Given the description of an element on the screen output the (x, y) to click on. 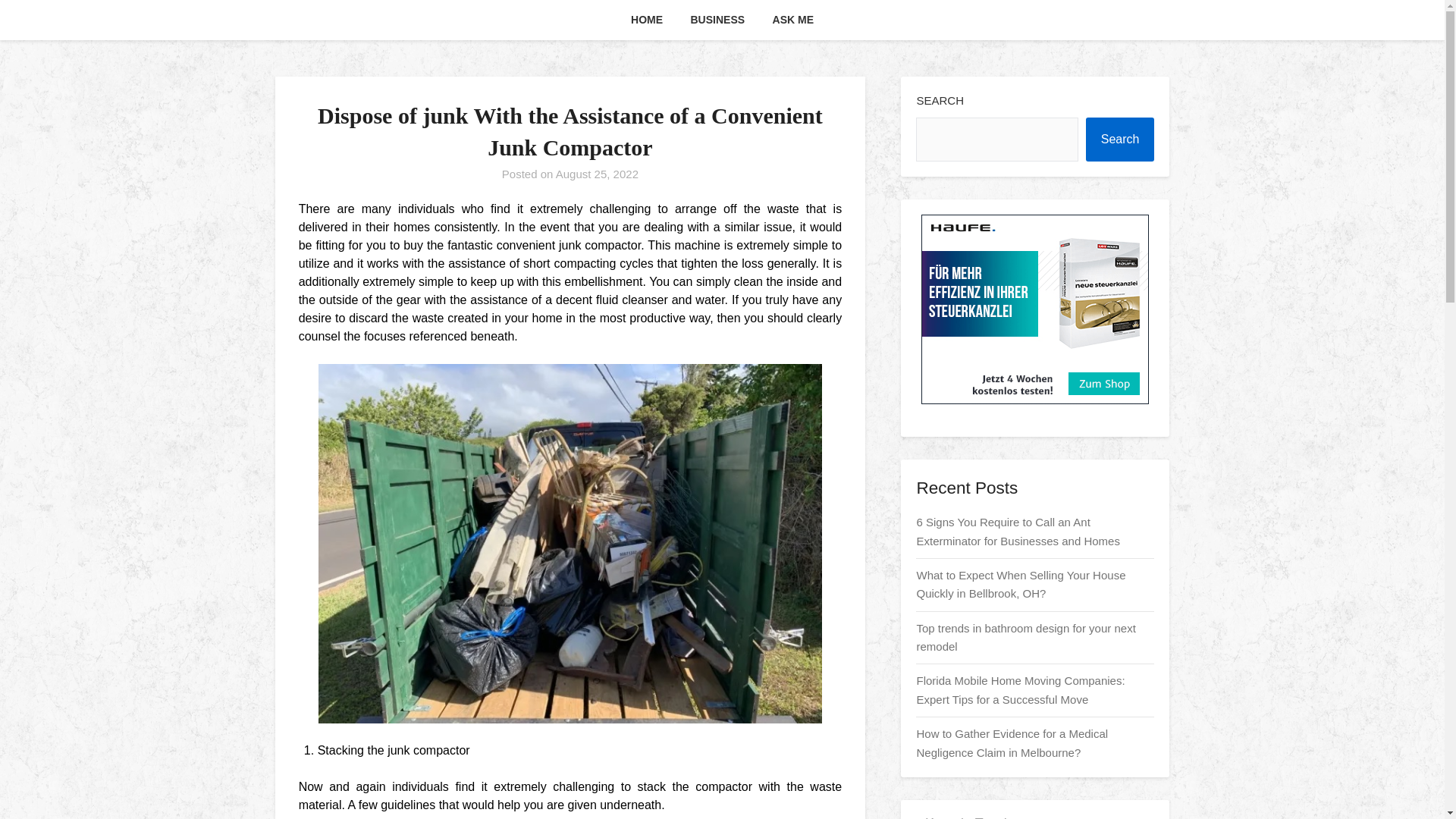
HOME (646, 20)
Search (1120, 139)
August 25, 2022 (597, 173)
Top trends in bathroom design for your next remodel (1025, 636)
ASK ME (792, 20)
BUSINESS (717, 20)
